Given the description of an element on the screen output the (x, y) to click on. 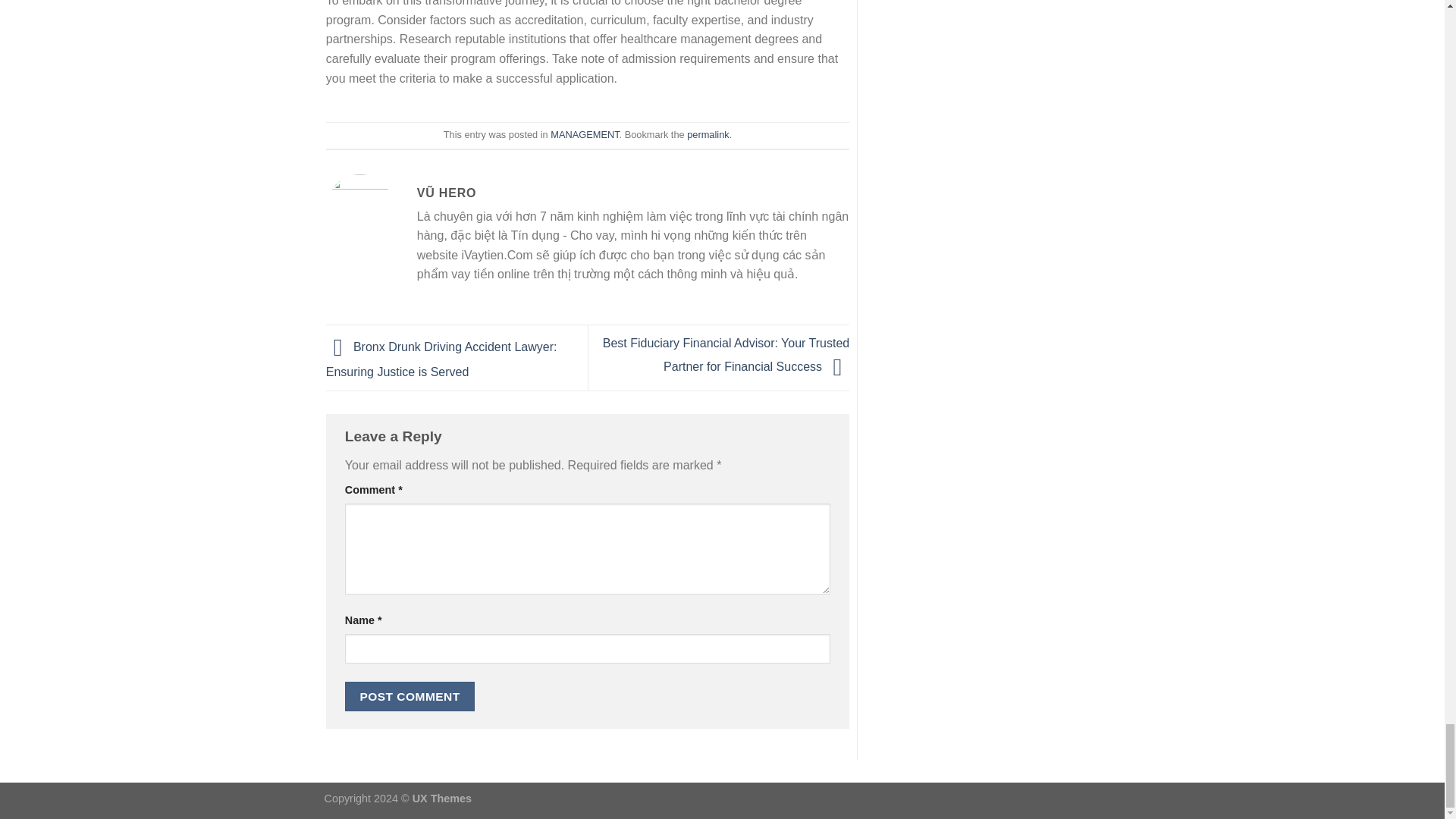
permalink (708, 134)
Post Comment (410, 696)
MANAGEMENT (584, 134)
Post Comment (410, 696)
